Given the description of an element on the screen output the (x, y) to click on. 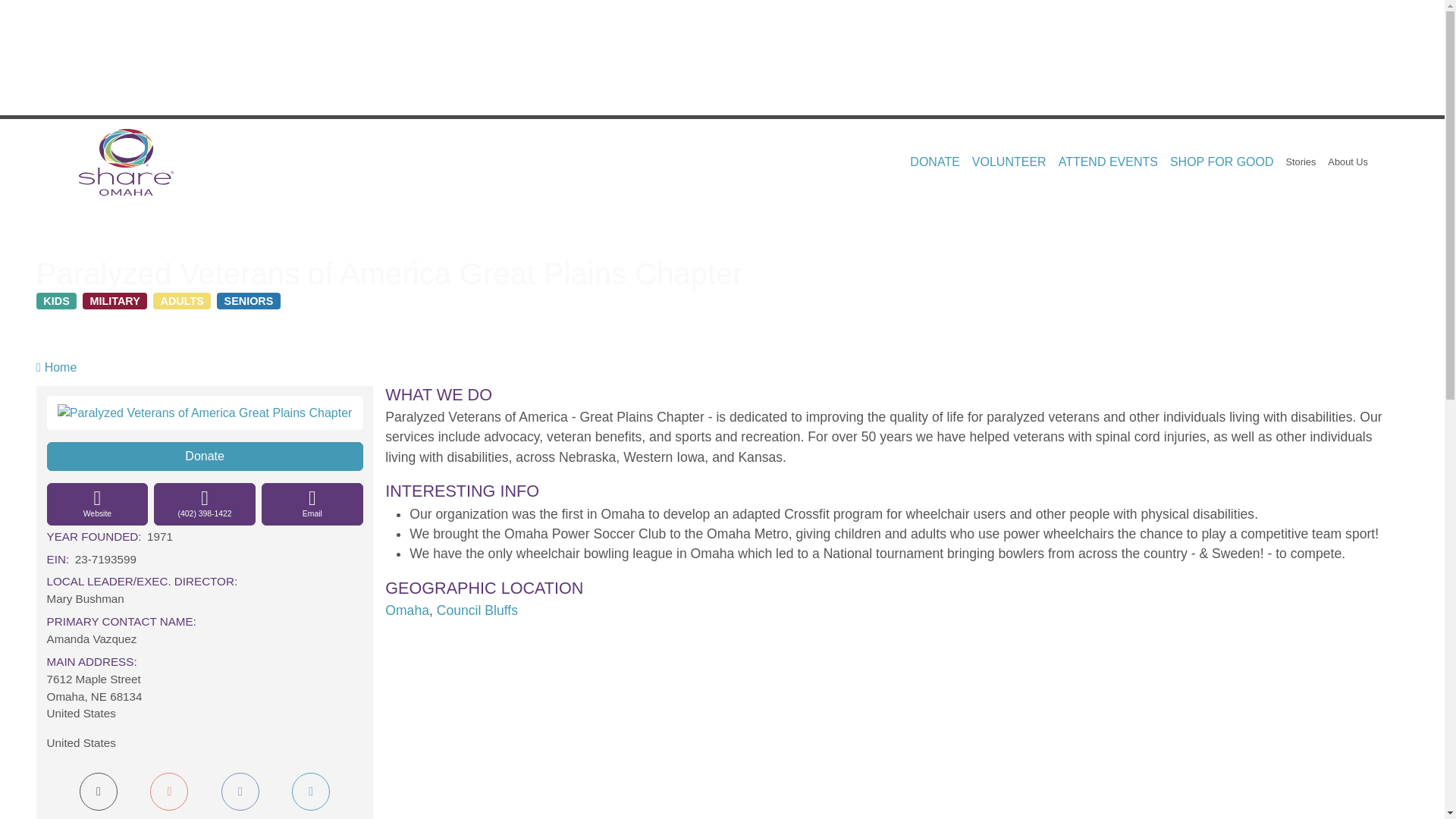
SHOP FOR GOOD (1221, 162)
Email (312, 503)
Omaha (407, 610)
Home (132, 161)
SENIORS (248, 300)
Donate (204, 456)
About Us (1348, 161)
ATTEND EVENTS (1107, 162)
Council Bluffs (477, 610)
Website (97, 503)
